Given the description of an element on the screen output the (x, y) to click on. 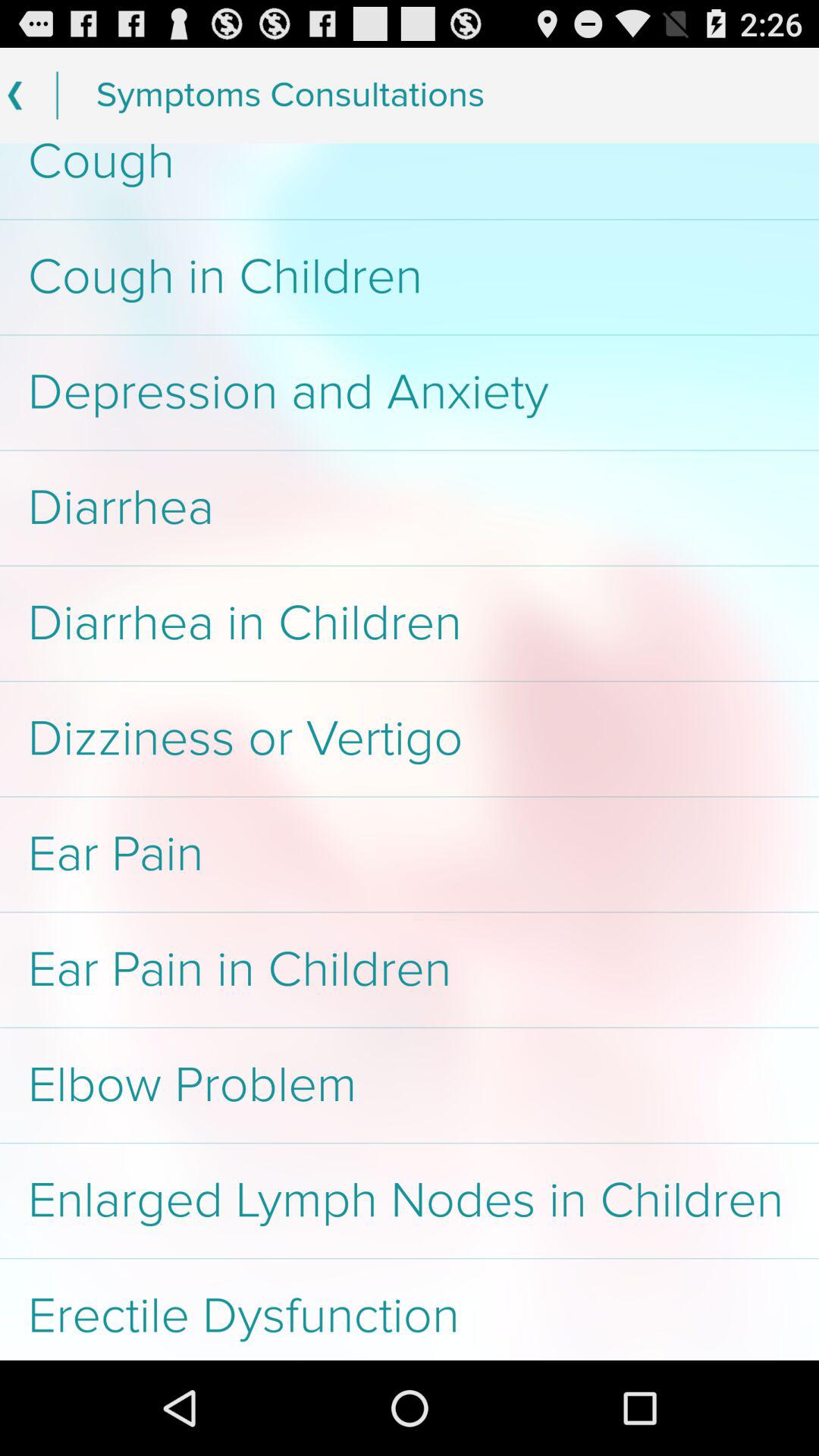
turn on app below enlarged lymph nodes (409, 1309)
